Given the description of an element on the screen output the (x, y) to click on. 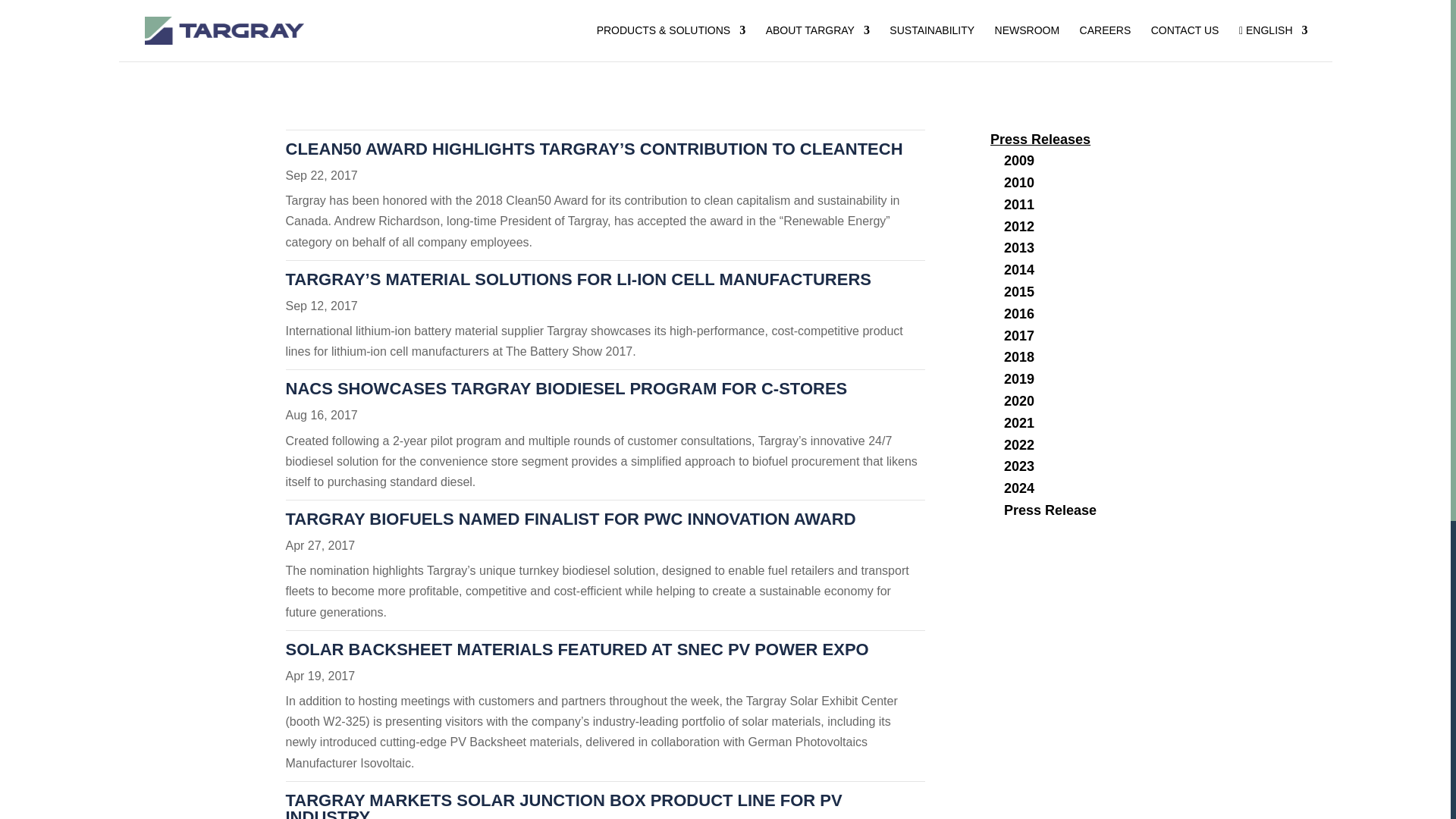
ABOUT TARGRAY (817, 42)
SUSTAINABILITY (931, 42)
NEWSROOM (1026, 42)
CAREERS (1105, 42)
